Given the description of an element on the screen output the (x, y) to click on. 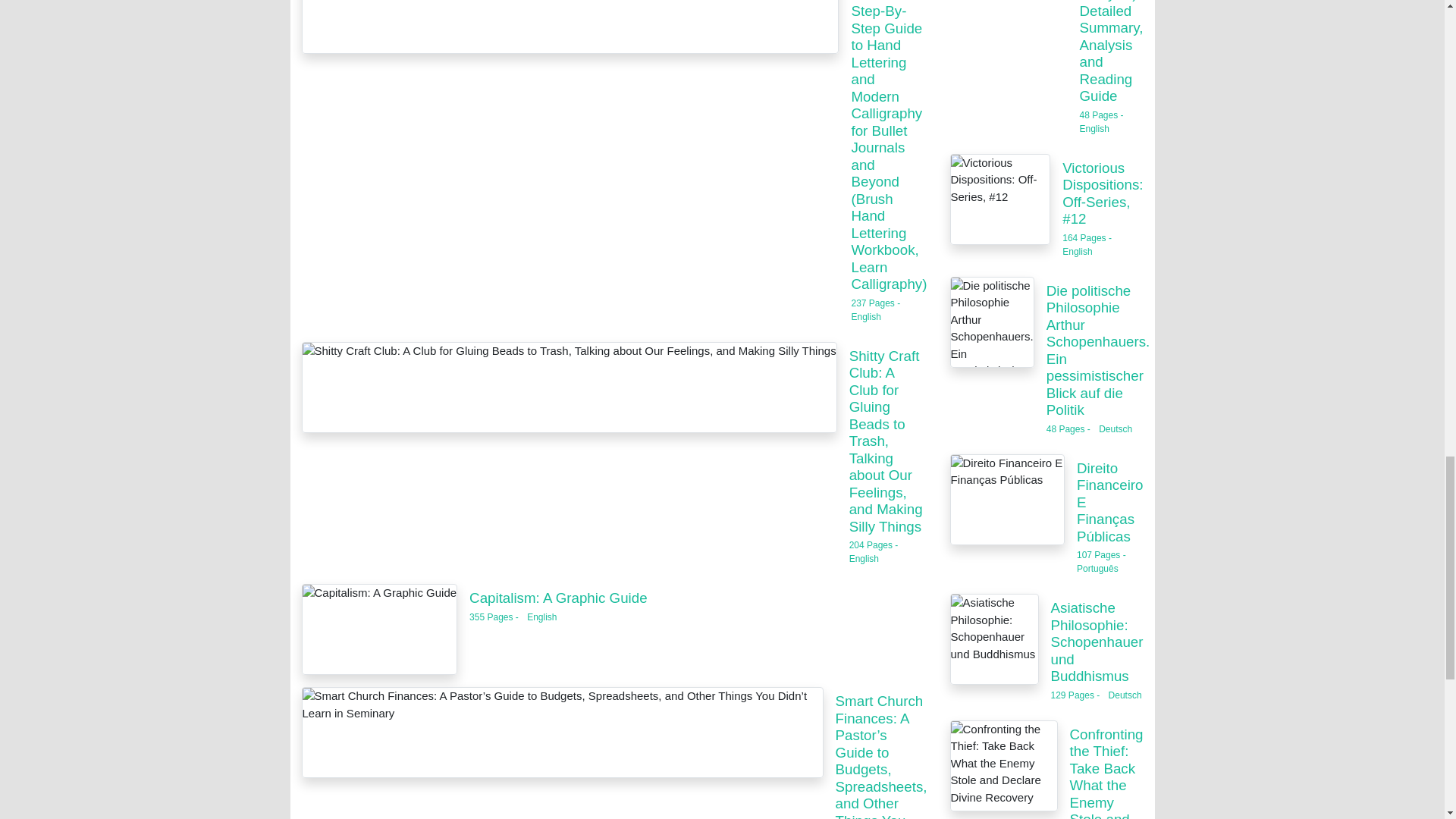
Capitalism: A Graphic Guide (557, 597)
Capitalism: A Graphic Guide (379, 628)
